Given the description of an element on the screen output the (x, y) to click on. 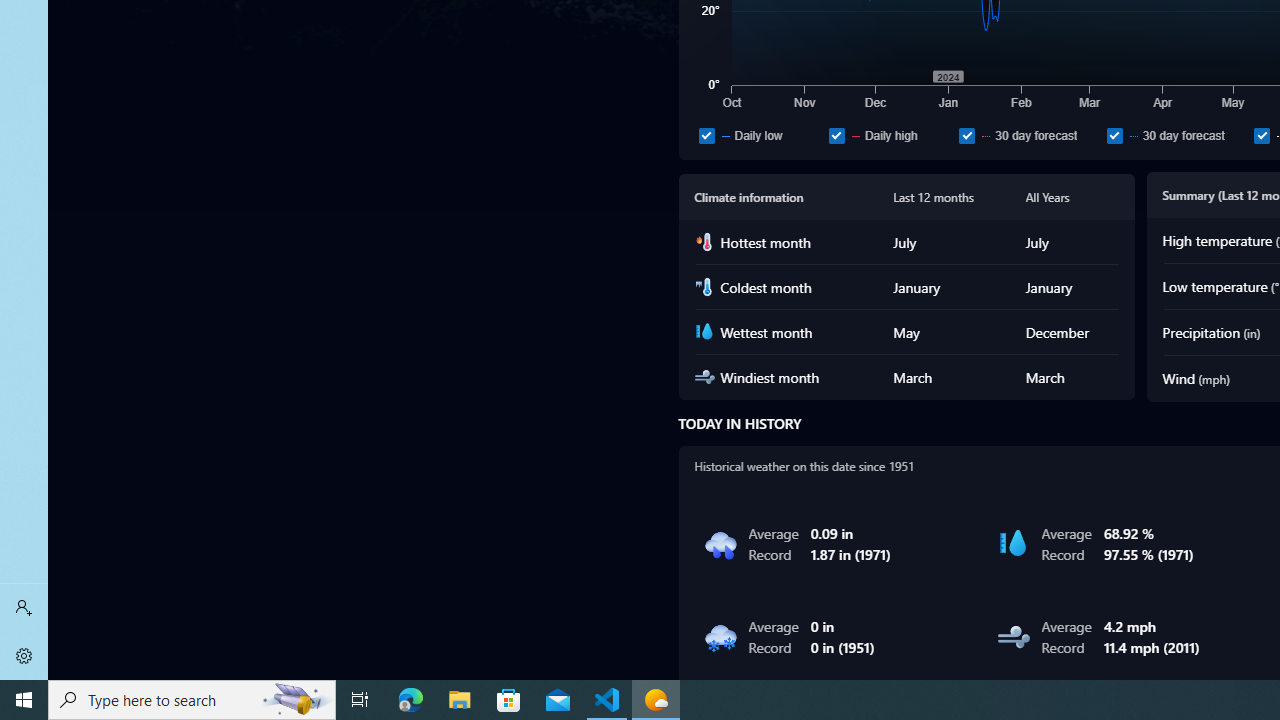
Sign in (24, 607)
Weather - 1 running window (656, 699)
Settings (24, 655)
